Given the description of an element on the screen output the (x, y) to click on. 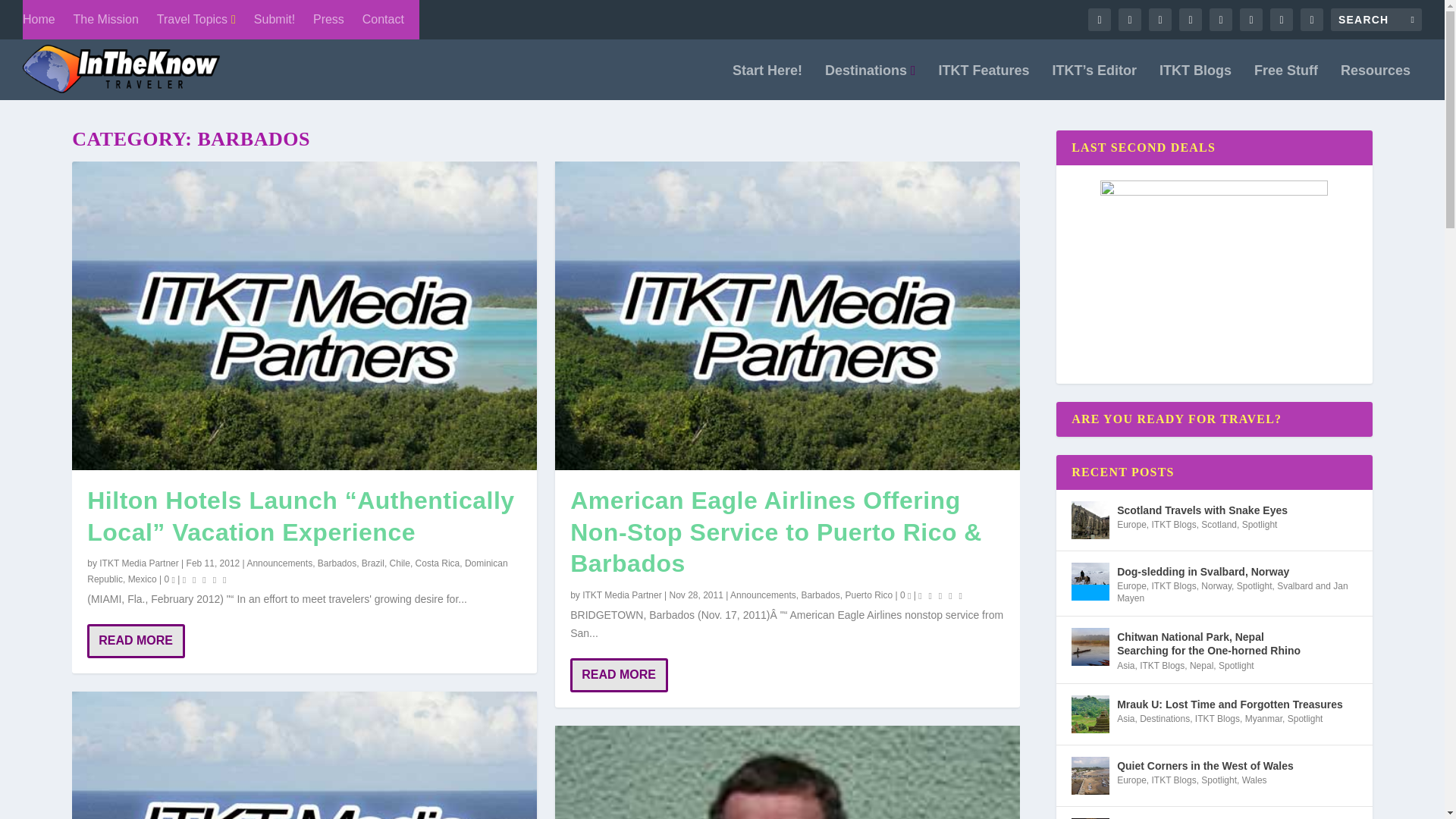
Start Here! (767, 81)
Search for: (1376, 19)
Posts by ITKT Media Partner (138, 562)
Travel Topics (196, 19)
Where in the World is Matt Lauer? Barbados, of course! (304, 755)
Destinations (870, 81)
Contact (383, 19)
Submit! (274, 19)
Rating: 0.00 (206, 579)
The Mission (106, 19)
